Given the description of an element on the screen output the (x, y) to click on. 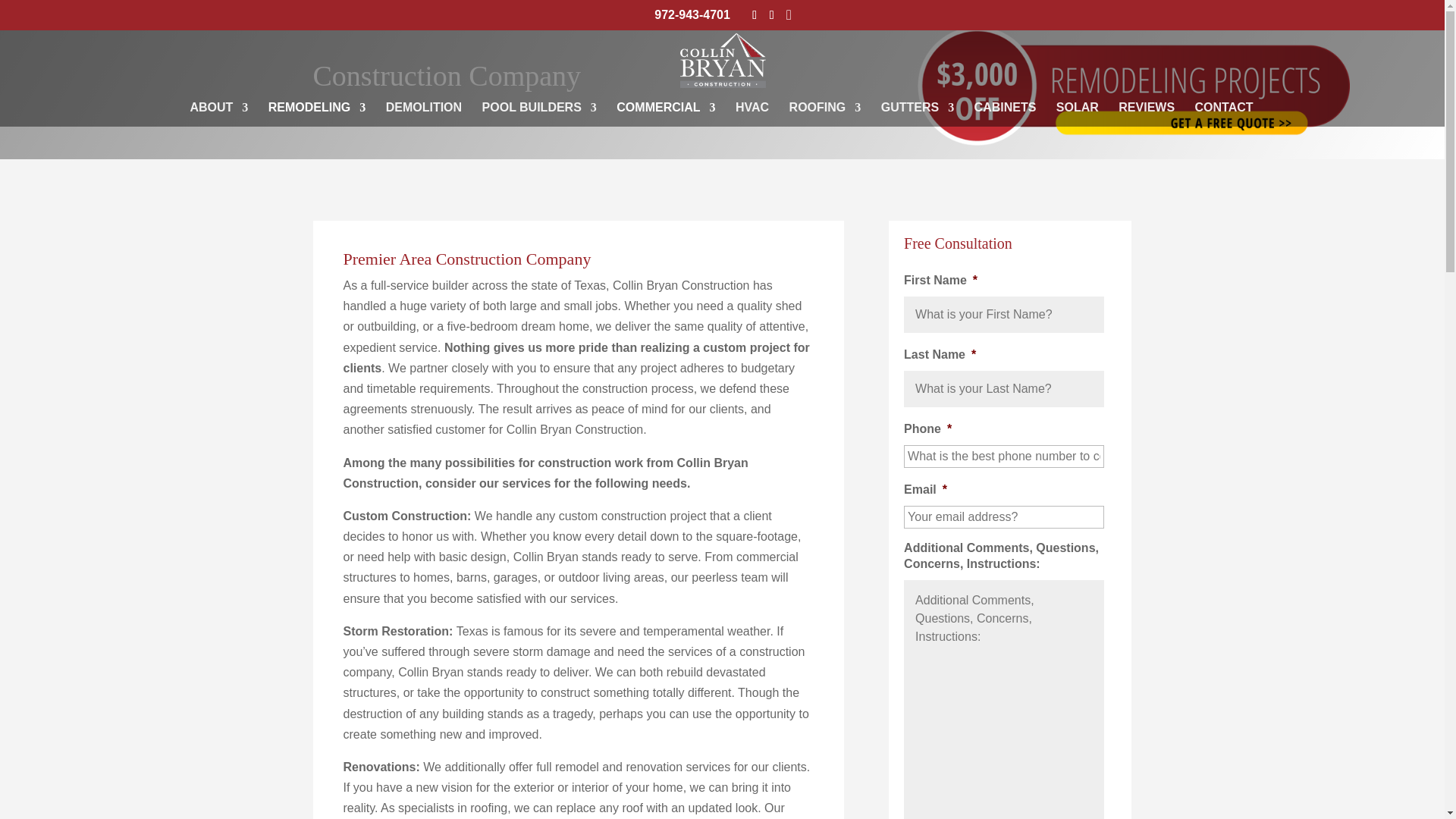
ROOFING (825, 114)
ABOUT (218, 114)
REVIEWS (1146, 114)
CABINETS (1005, 114)
COMMERCIAL (664, 114)
POOL BUILDERS (538, 114)
CONTACT (1224, 114)
SOLAR (1078, 114)
HVAC (751, 114)
REMODELING (316, 114)
